Given the description of an element on the screen output the (x, y) to click on. 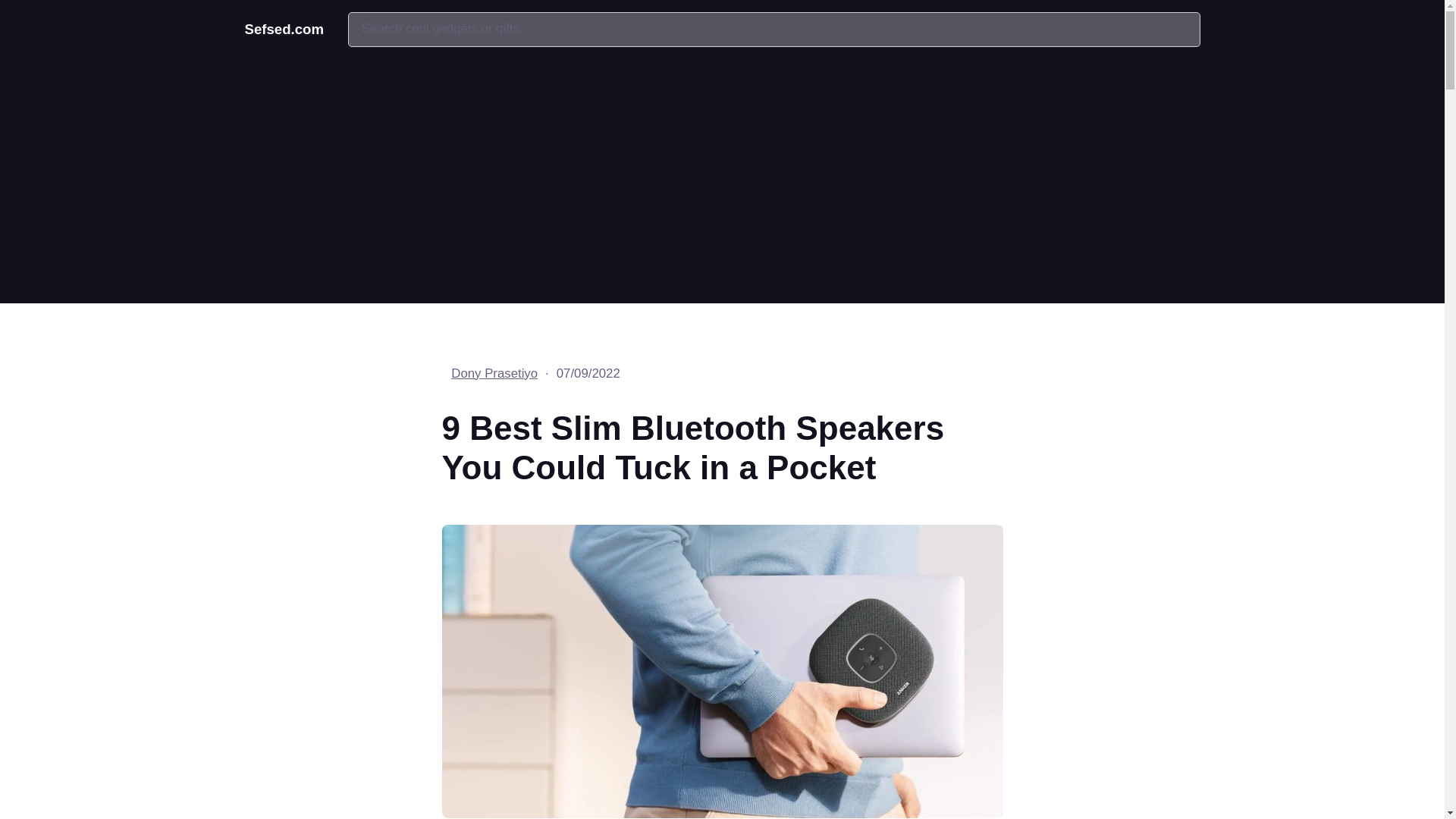
Advertisement (722, 177)
Dony Prasetiyo (494, 373)
Sefsed.com (283, 28)
